Given the description of an element on the screen output the (x, y) to click on. 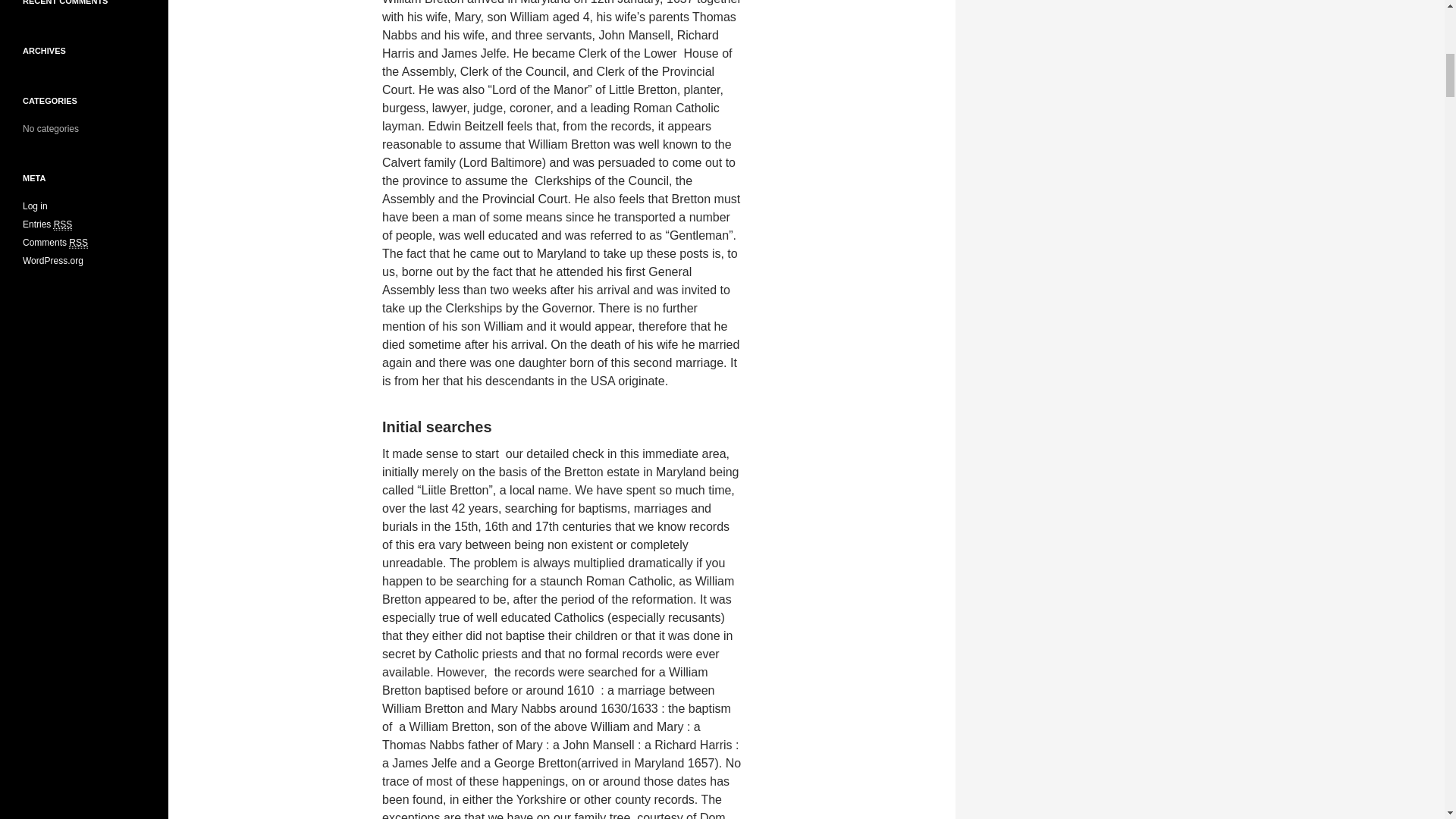
Really Simple Syndication (77, 242)
Really Simple Syndication (62, 224)
